Given the description of an element on the screen output the (x, y) to click on. 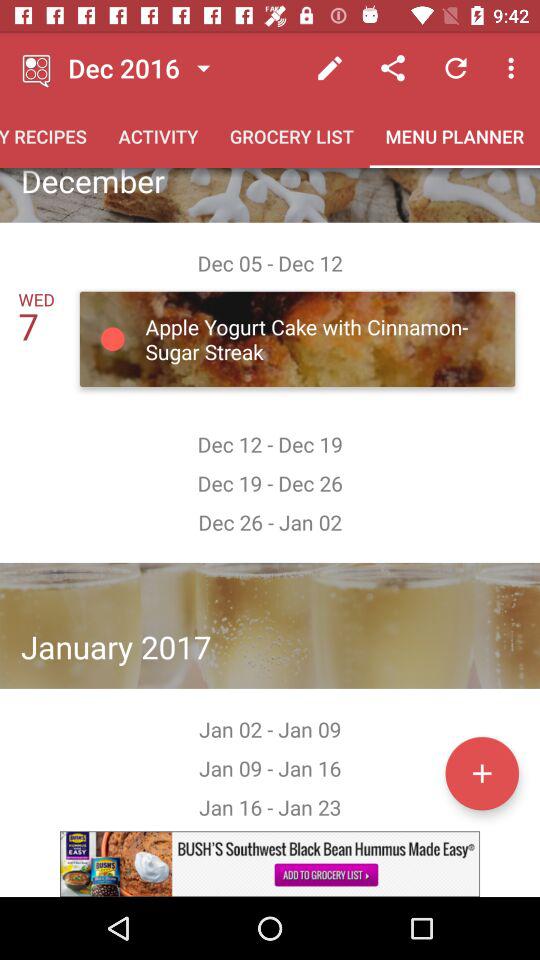
add recipe (482, 773)
